Given the description of an element on the screen output the (x, y) to click on. 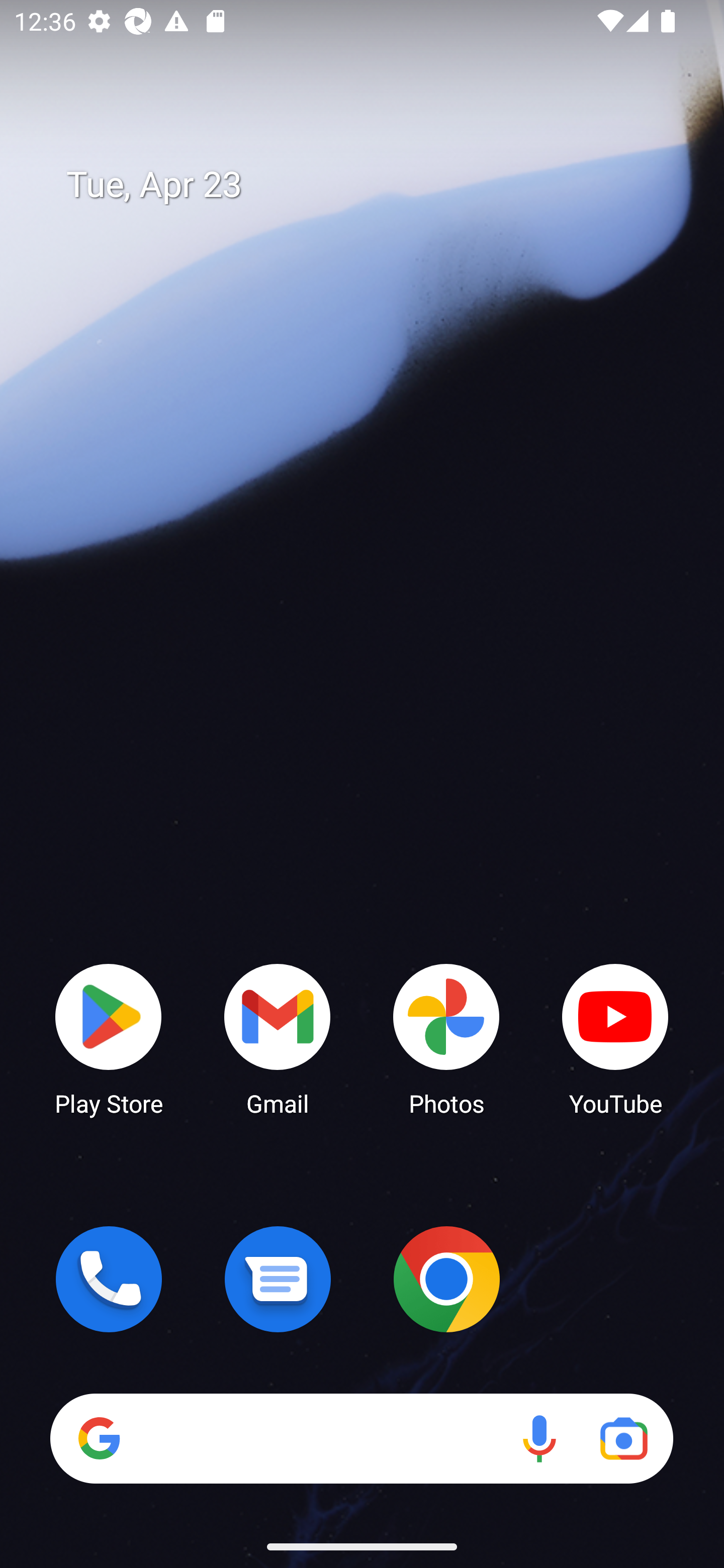
Tue, Apr 23 (375, 184)
Play Store (108, 1038)
Gmail (277, 1038)
Photos (445, 1038)
YouTube (615, 1038)
Phone (108, 1279)
Messages (277, 1279)
Chrome (446, 1279)
Search Voice search Google Lens (361, 1438)
Voice search (539, 1438)
Google Lens (623, 1438)
